Given the description of an element on the screen output the (x, y) to click on. 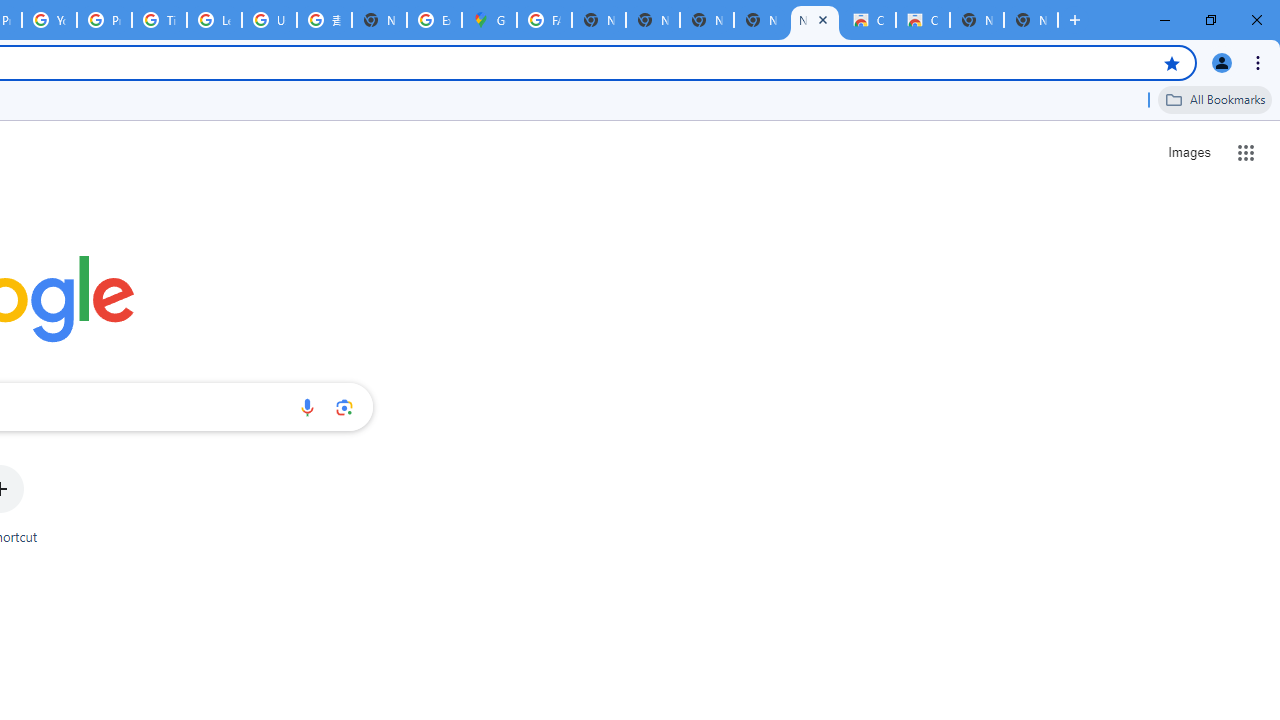
YouTube (48, 20)
New Tab (1030, 20)
Google Maps (489, 20)
New Tab (379, 20)
